Given the description of an element on the screen output the (x, y) to click on. 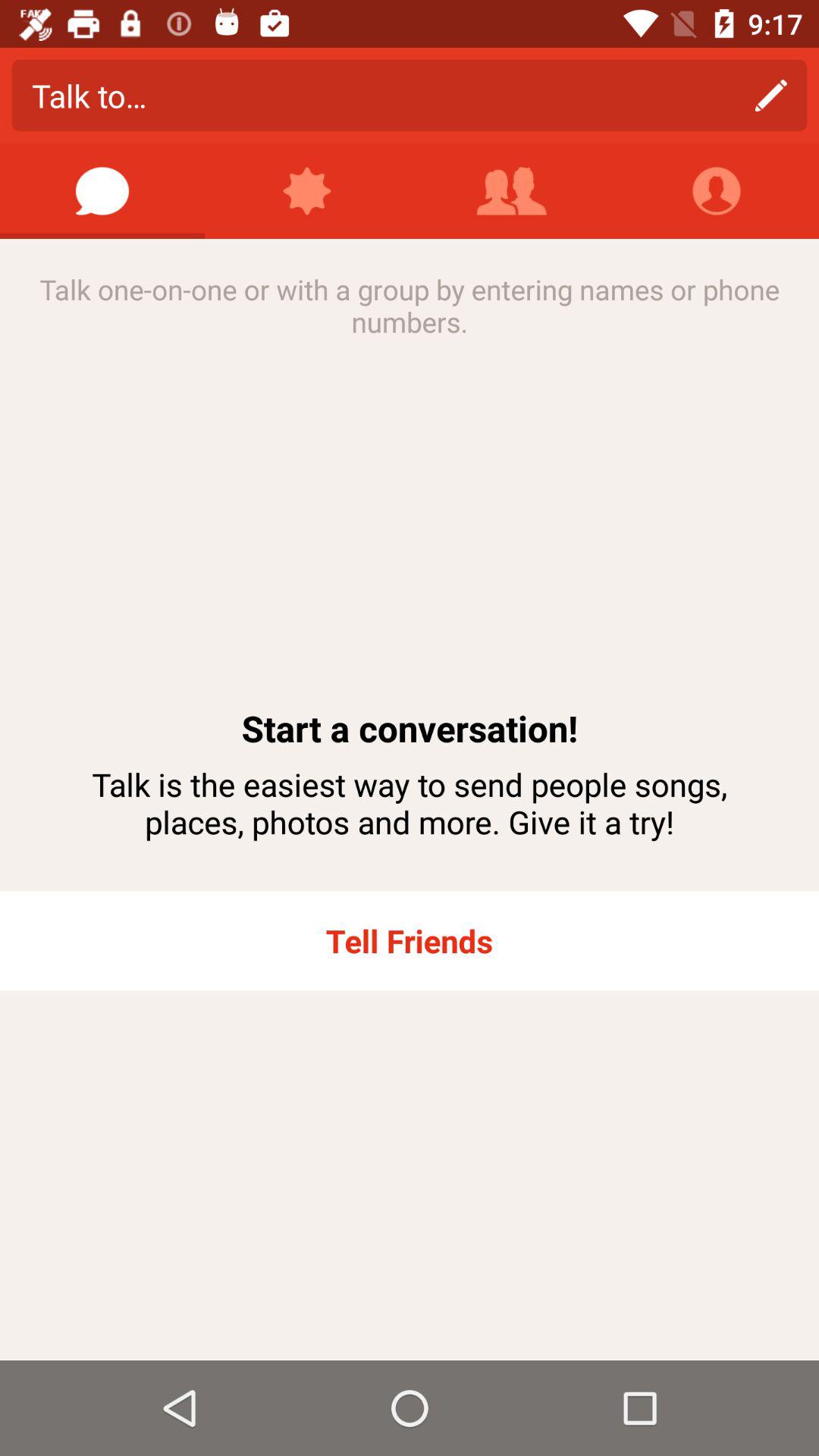
show friends (511, 190)
